Given the description of an element on the screen output the (x, y) to click on. 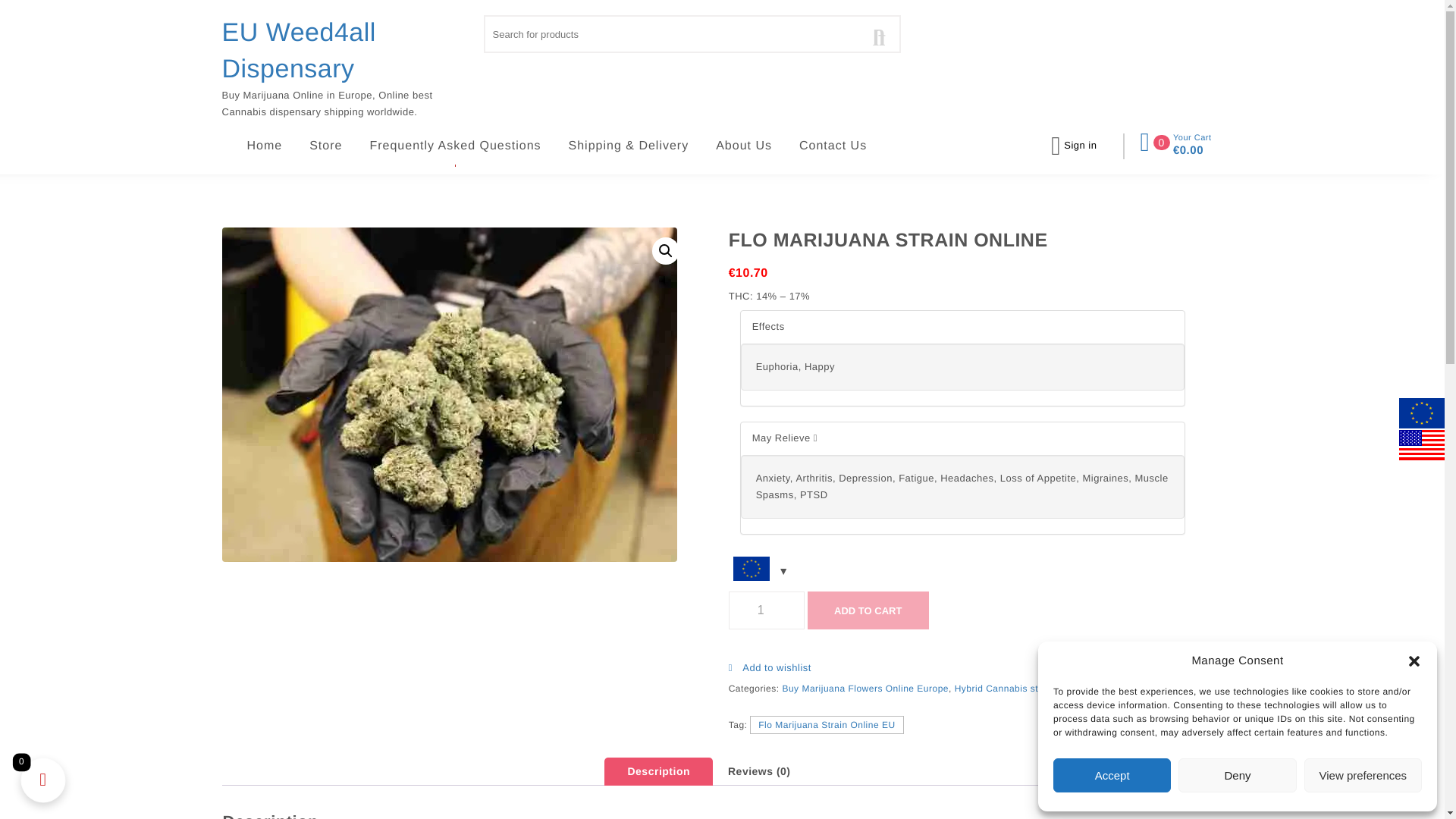
Accept (1111, 775)
View preferences (1363, 775)
Store (264, 146)
Please select your currency (759, 570)
EU Weed4all Dispensary (346, 50)
Sign in (1080, 145)
Deny (1236, 775)
1 (767, 610)
View your shopping cart (1175, 142)
